Given the description of an element on the screen output the (x, y) to click on. 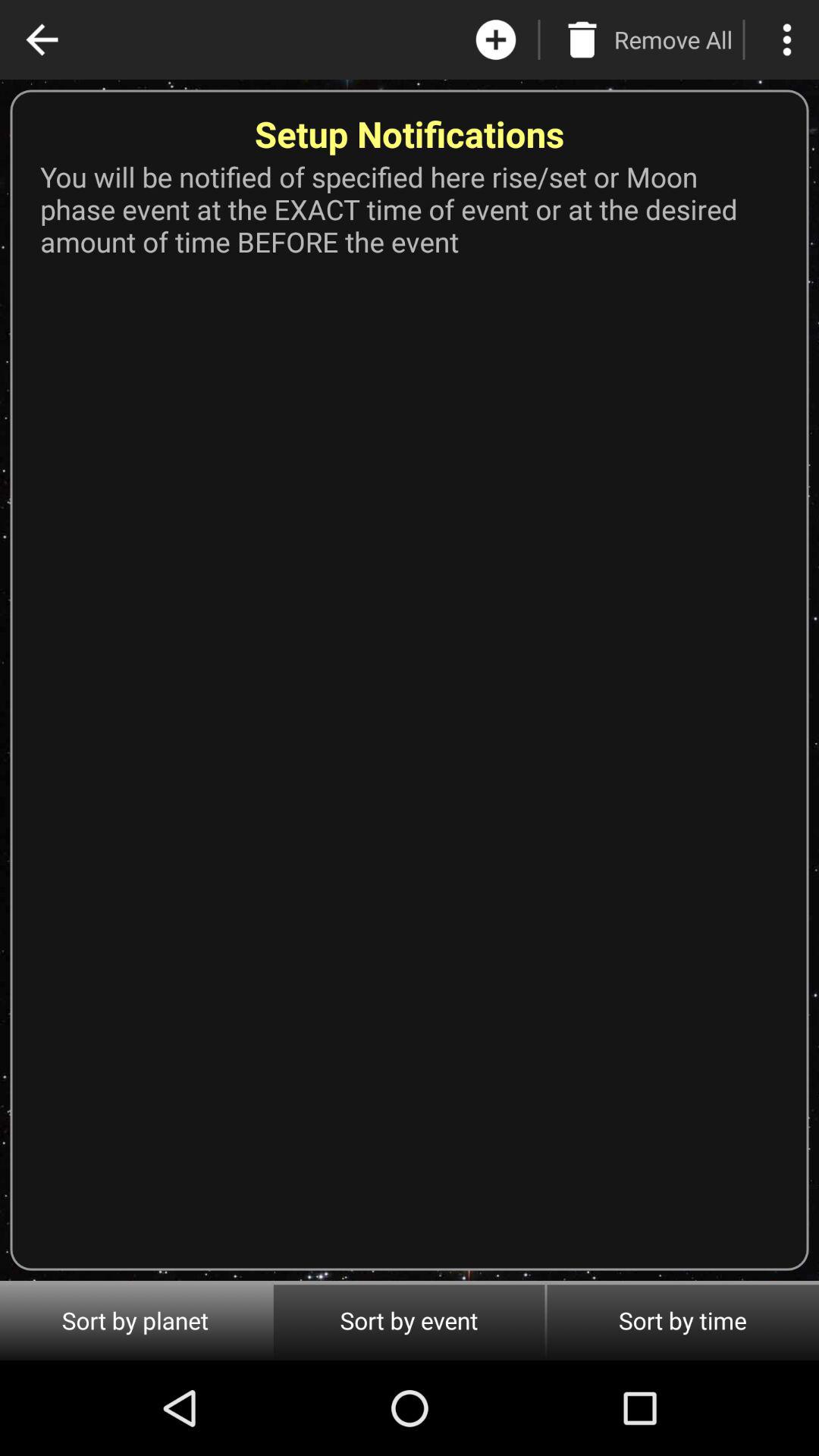
remove (582, 39)
